Given the description of an element on the screen output the (x, y) to click on. 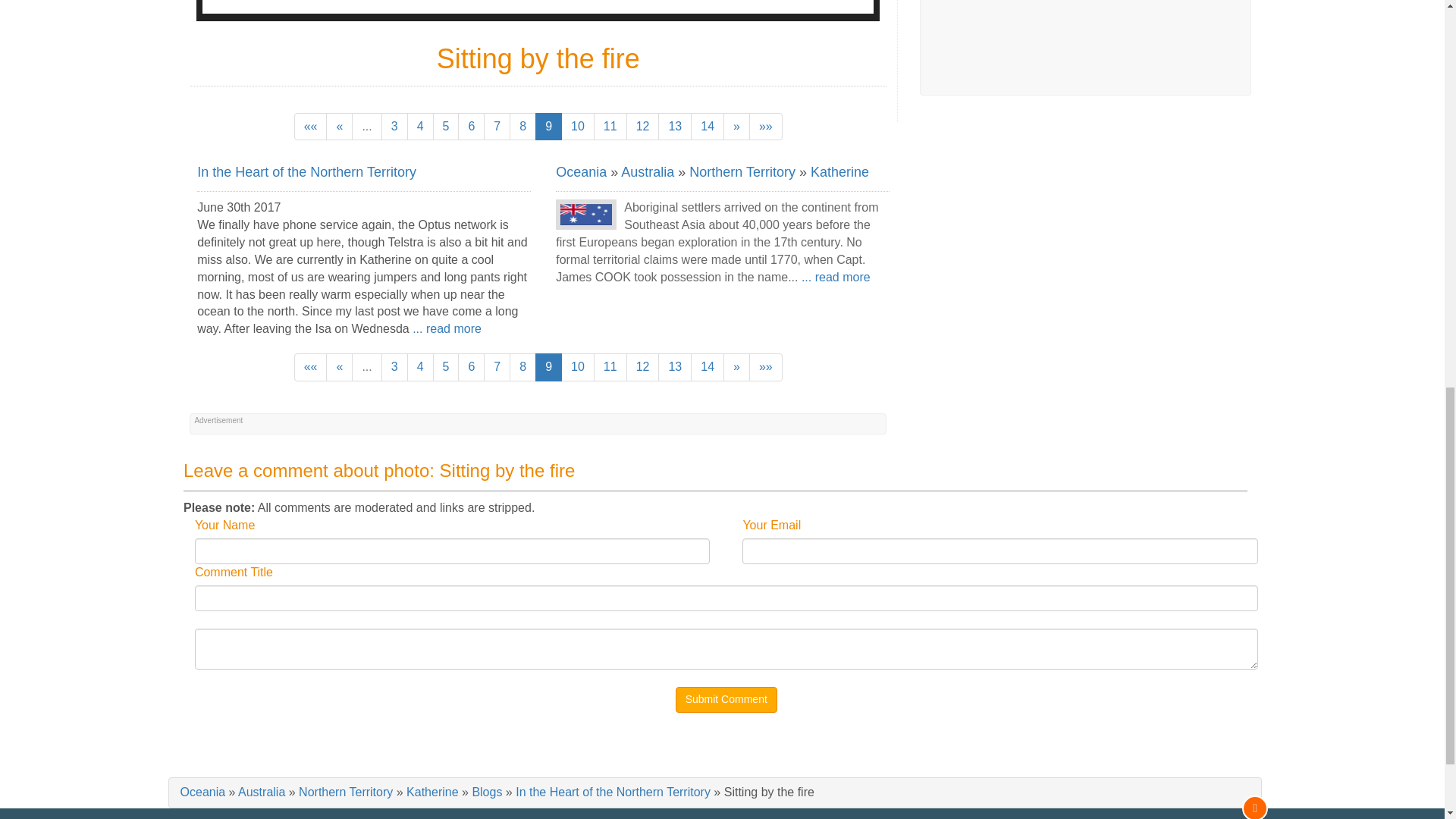
next (736, 126)
First (310, 126)
Previous (339, 126)
Sitting by the fire (537, 6)
